Given the description of an element on the screen output the (x, y) to click on. 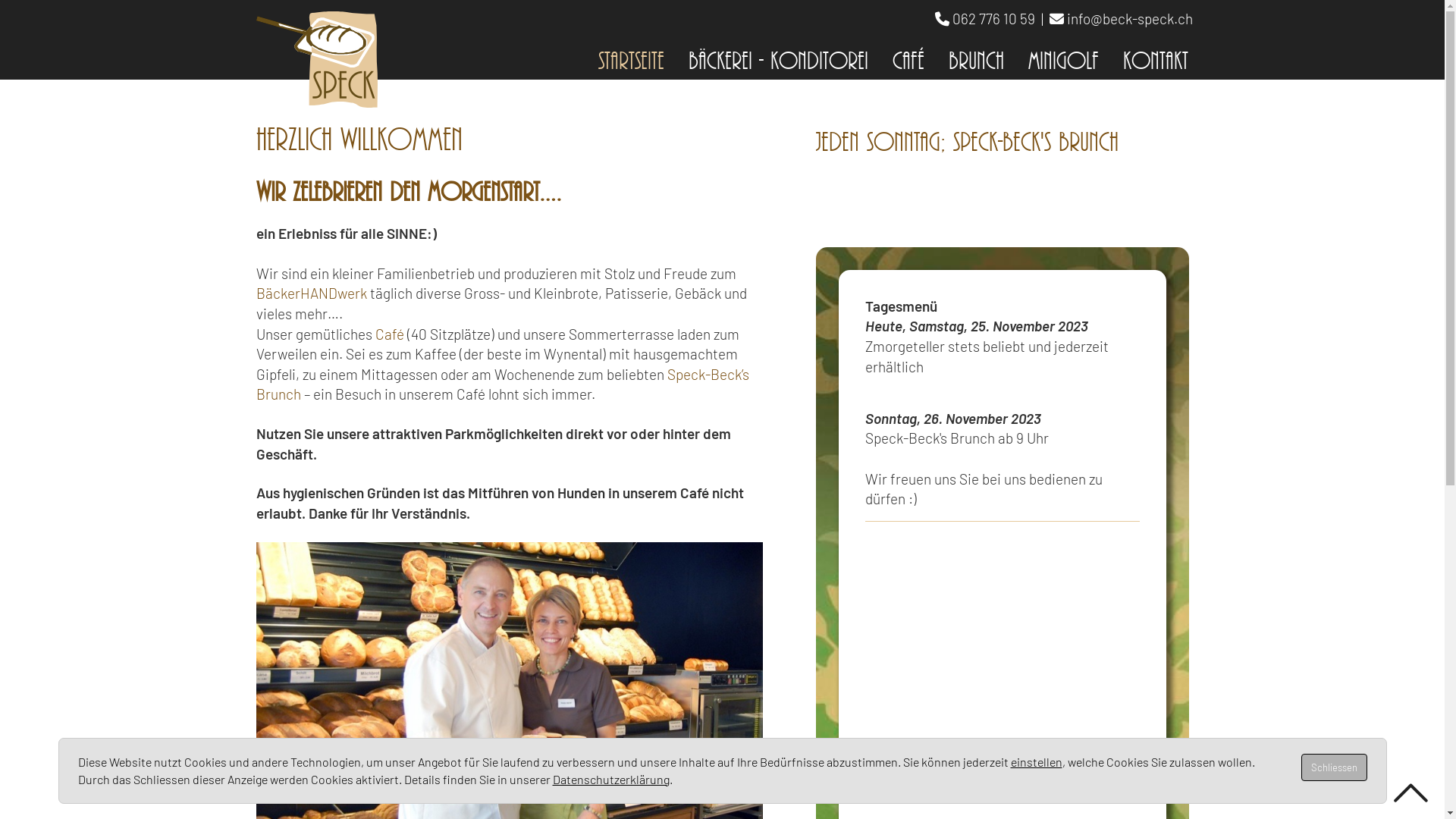
Startseite Element type: text (630, 59)
062 776 10 59 Element type: text (993, 18)
Kontakt Element type: text (1154, 59)
Schliessen Element type: text (1334, 767)
Brunch Element type: text (975, 59)
info@beck-speck.ch Element type: text (1129, 18)
Minigolf Element type: text (1063, 59)
